Given the description of an element on the screen output the (x, y) to click on. 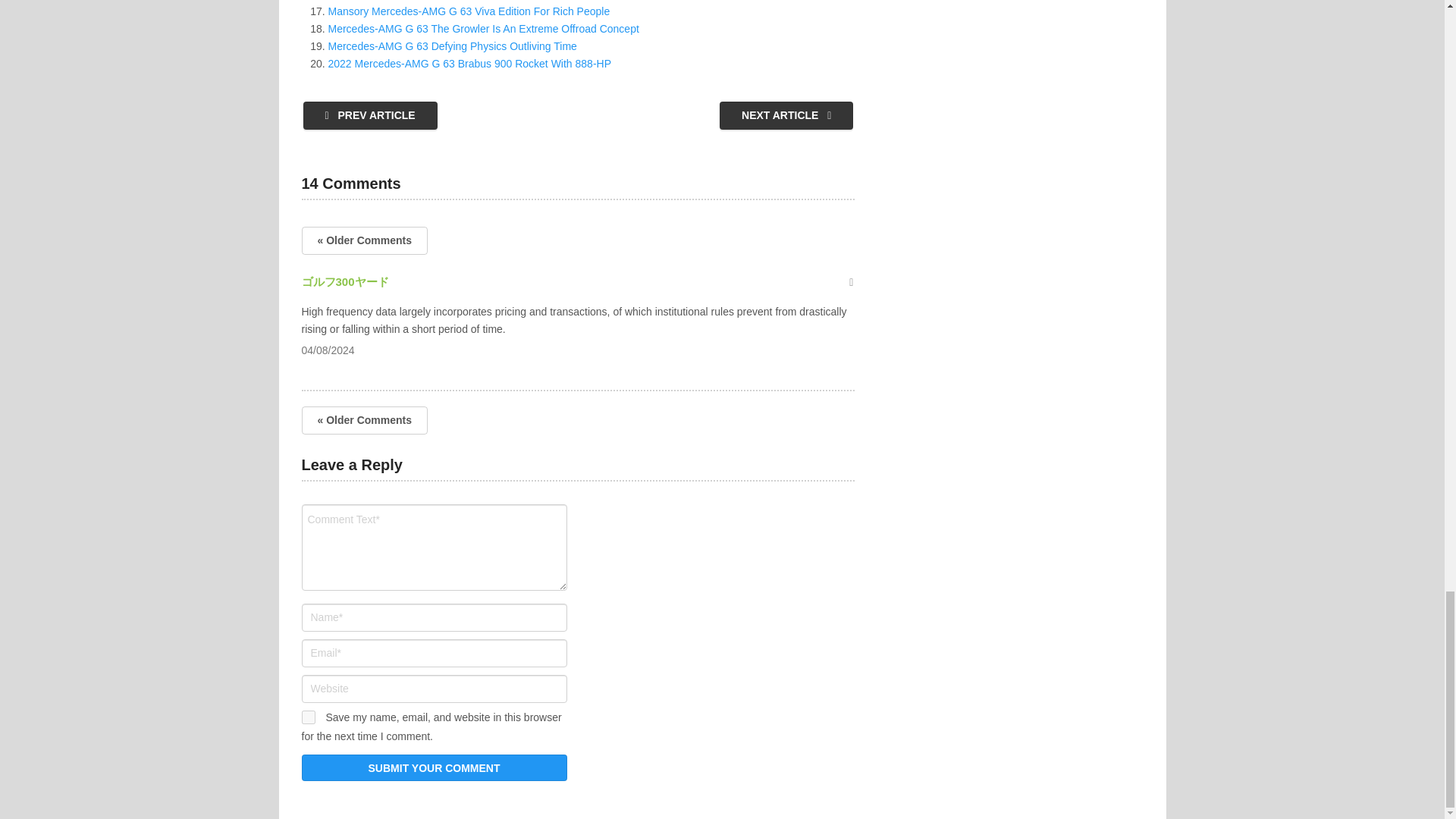
yes (308, 716)
Submit Your Comment (434, 767)
